Given the description of an element on the screen output the (x, y) to click on. 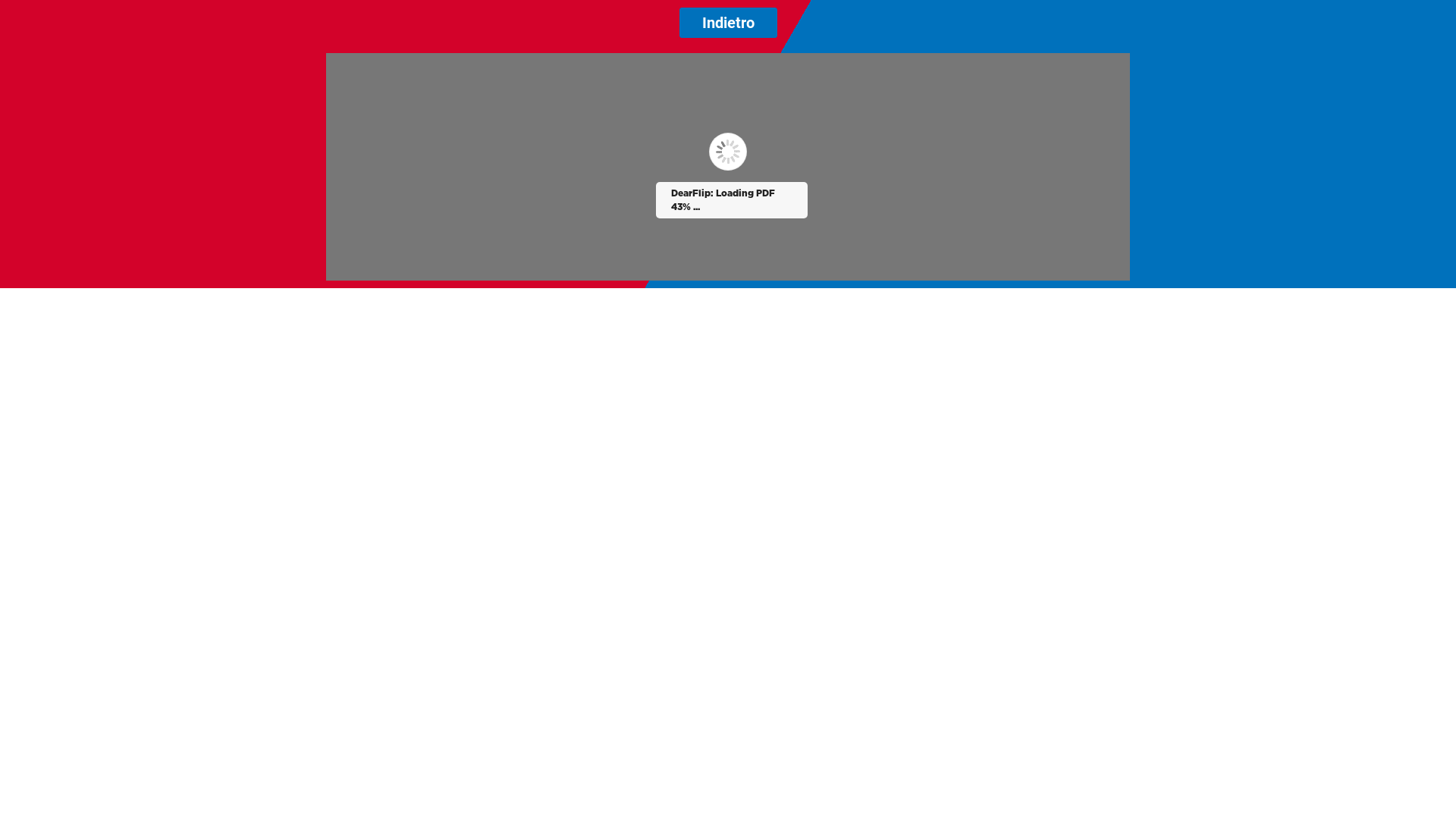
Indietro Element type: text (728, 22)
